Given the description of an element on the screen output the (x, y) to click on. 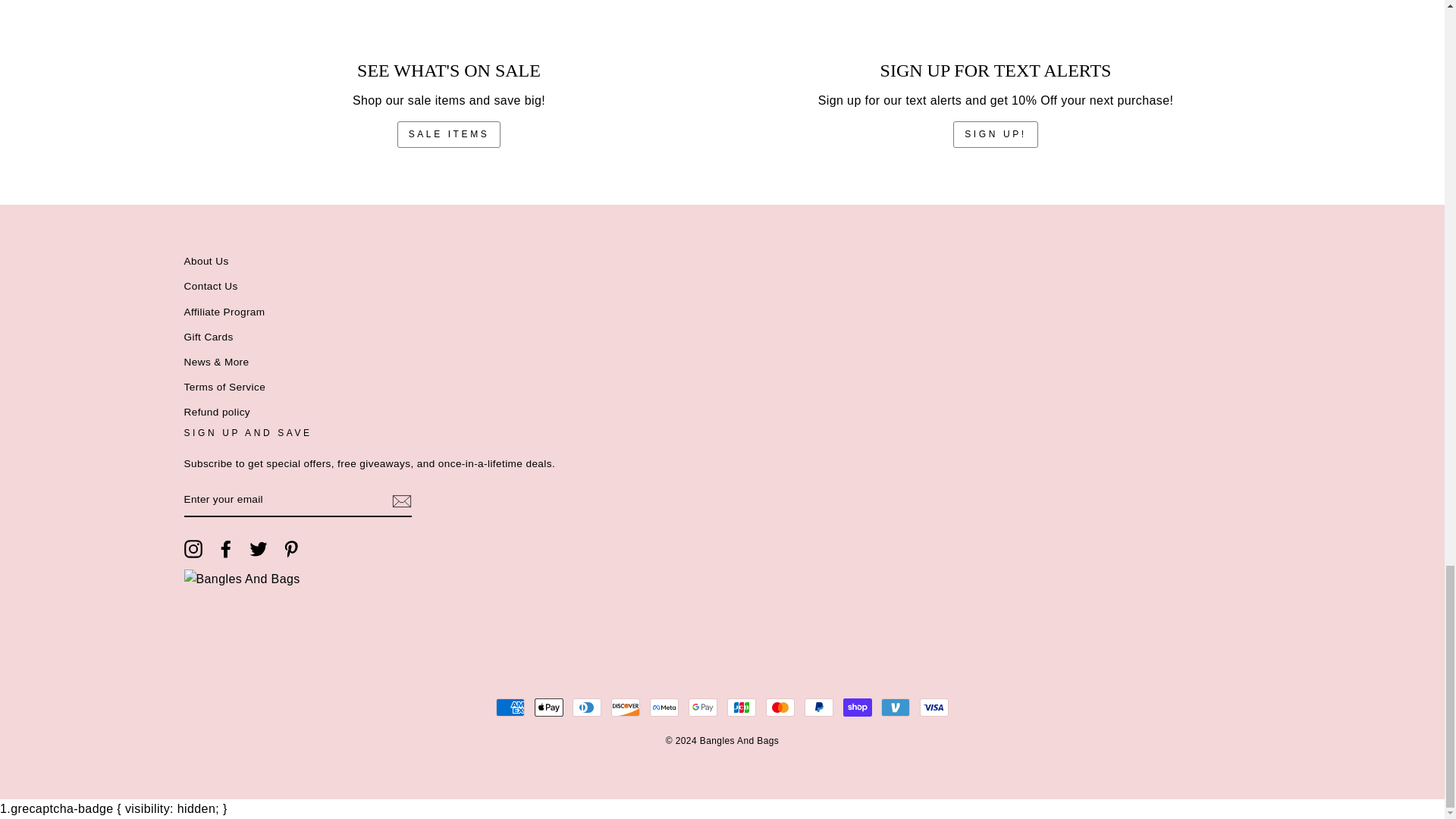
Bangles And Bags on Pinterest (290, 548)
Bangles And Bags on Instagram (192, 548)
Bangles And Bags on Twitter (257, 548)
Bangles And Bags on Facebook (225, 548)
